Given the description of an element on the screen output the (x, y) to click on. 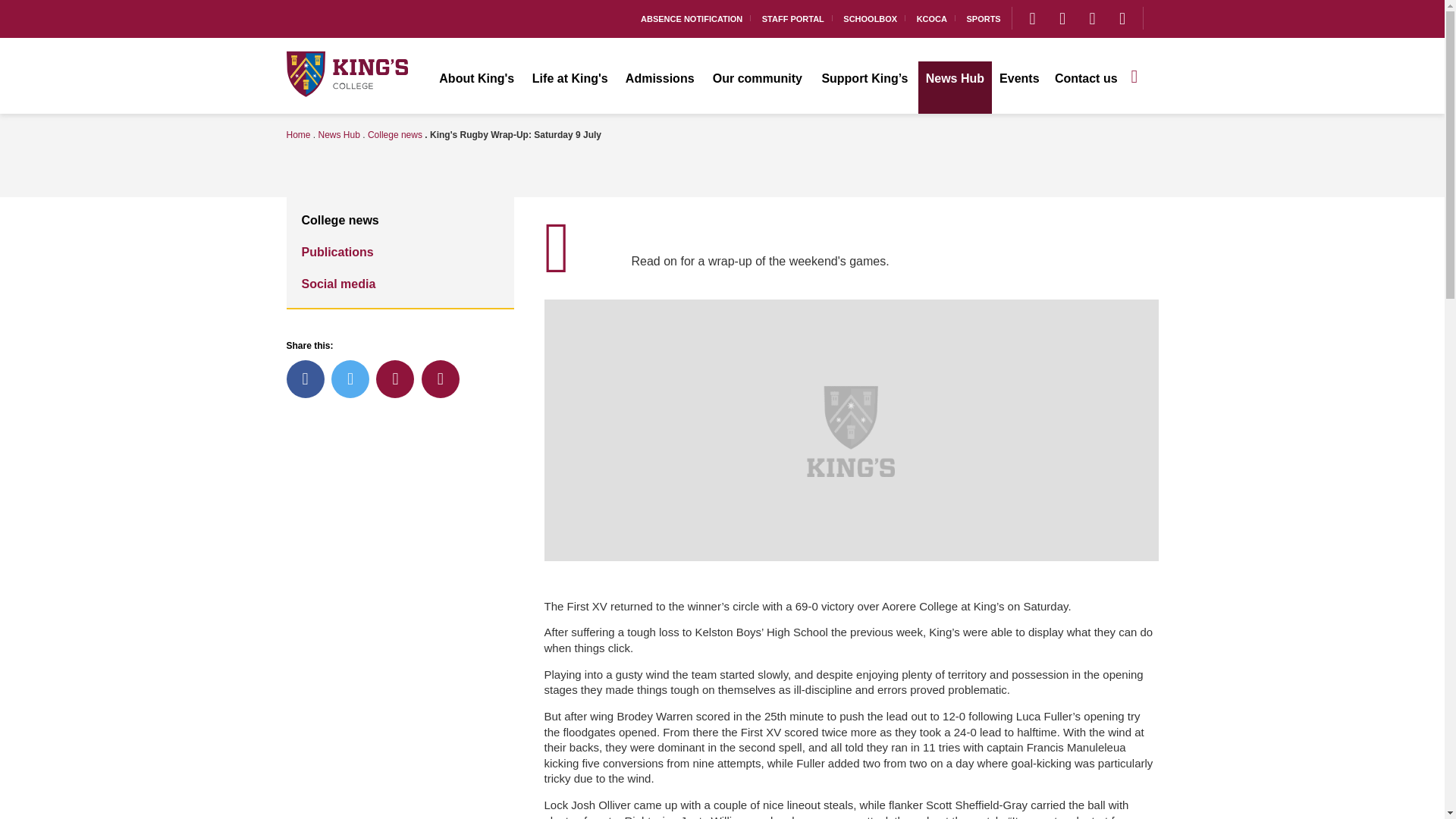
Life at King's (569, 87)
Our community (756, 87)
SCHOOLBOX (870, 18)
Admissions (659, 87)
Life at King's (569, 87)
Events (1018, 87)
ABSENCE NOTIFICATION (692, 18)
LinkedIn (1121, 17)
About King's (476, 87)
Kings College (346, 73)
About King's (476, 87)
Instagram (1032, 17)
STAFF PORTAL (793, 18)
Facebook (1091, 17)
SPORTS (982, 18)
